Given the description of an element on the screen output the (x, y) to click on. 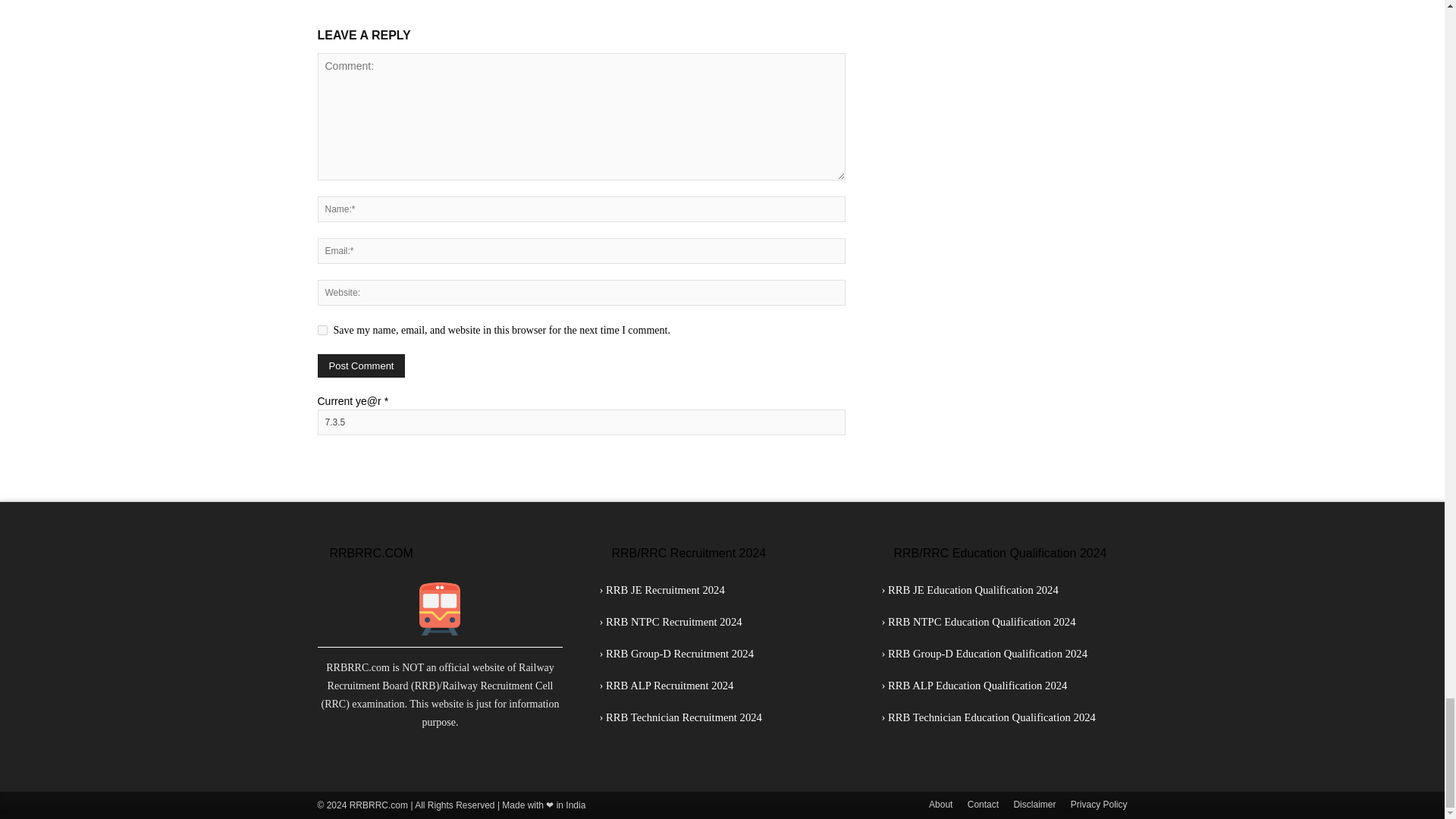
Post Comment (360, 365)
yes (321, 329)
7.3.5 (580, 421)
